Given the description of an element on the screen output the (x, y) to click on. 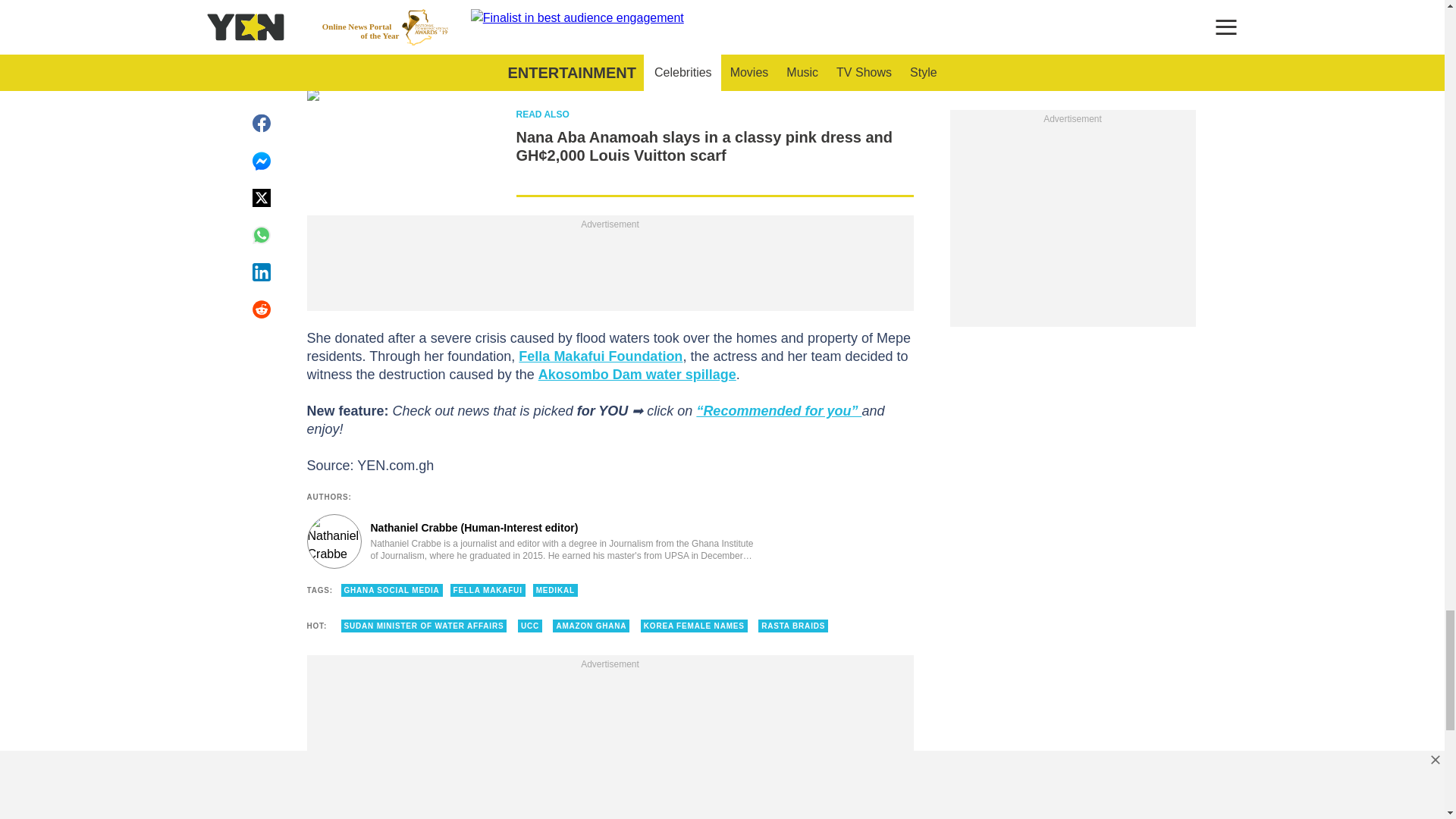
Author page (533, 541)
